Given the description of an element on the screen output the (x, y) to click on. 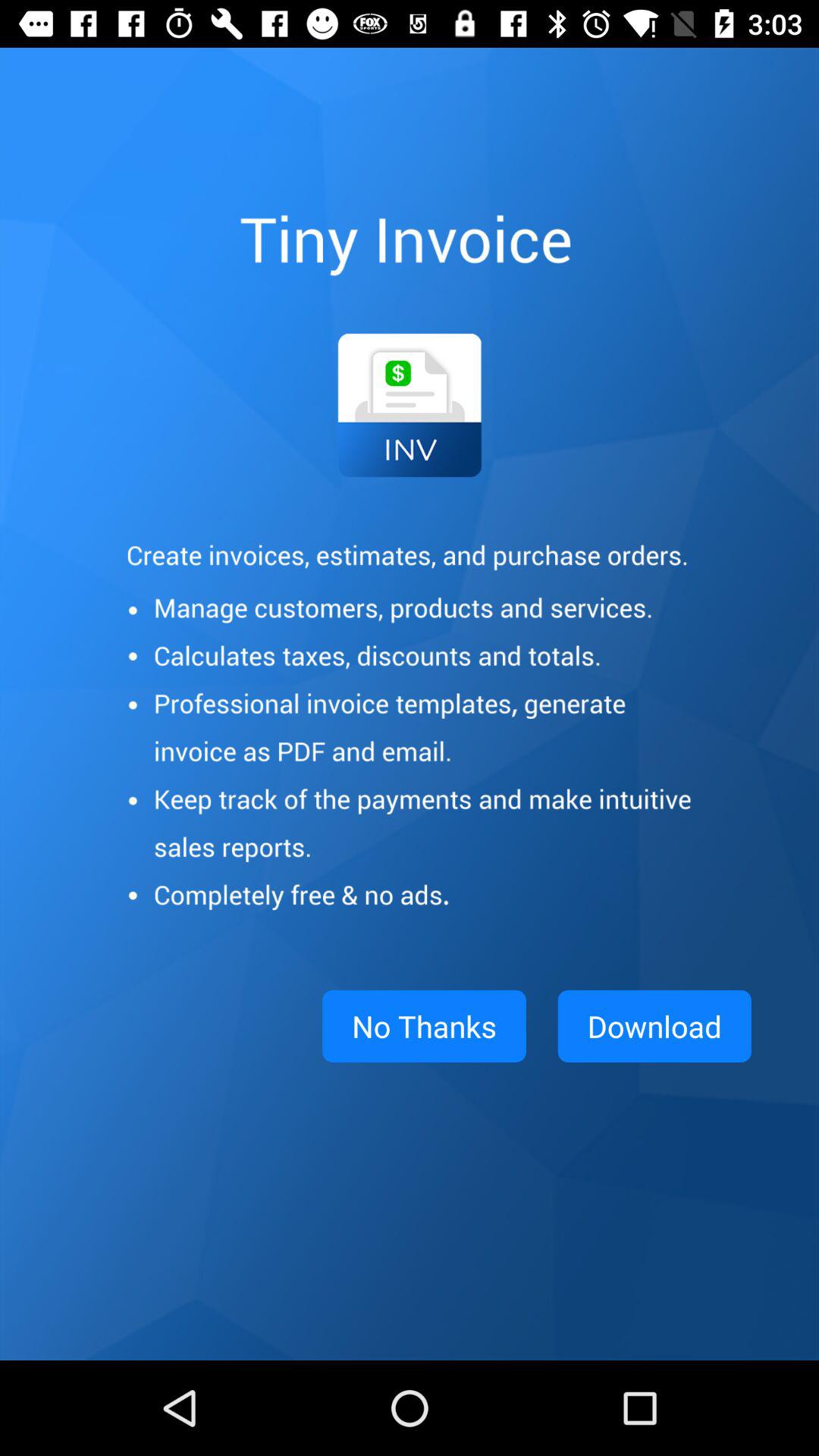
swipe to no thanks icon (424, 1026)
